Given the description of an element on the screen output the (x, y) to click on. 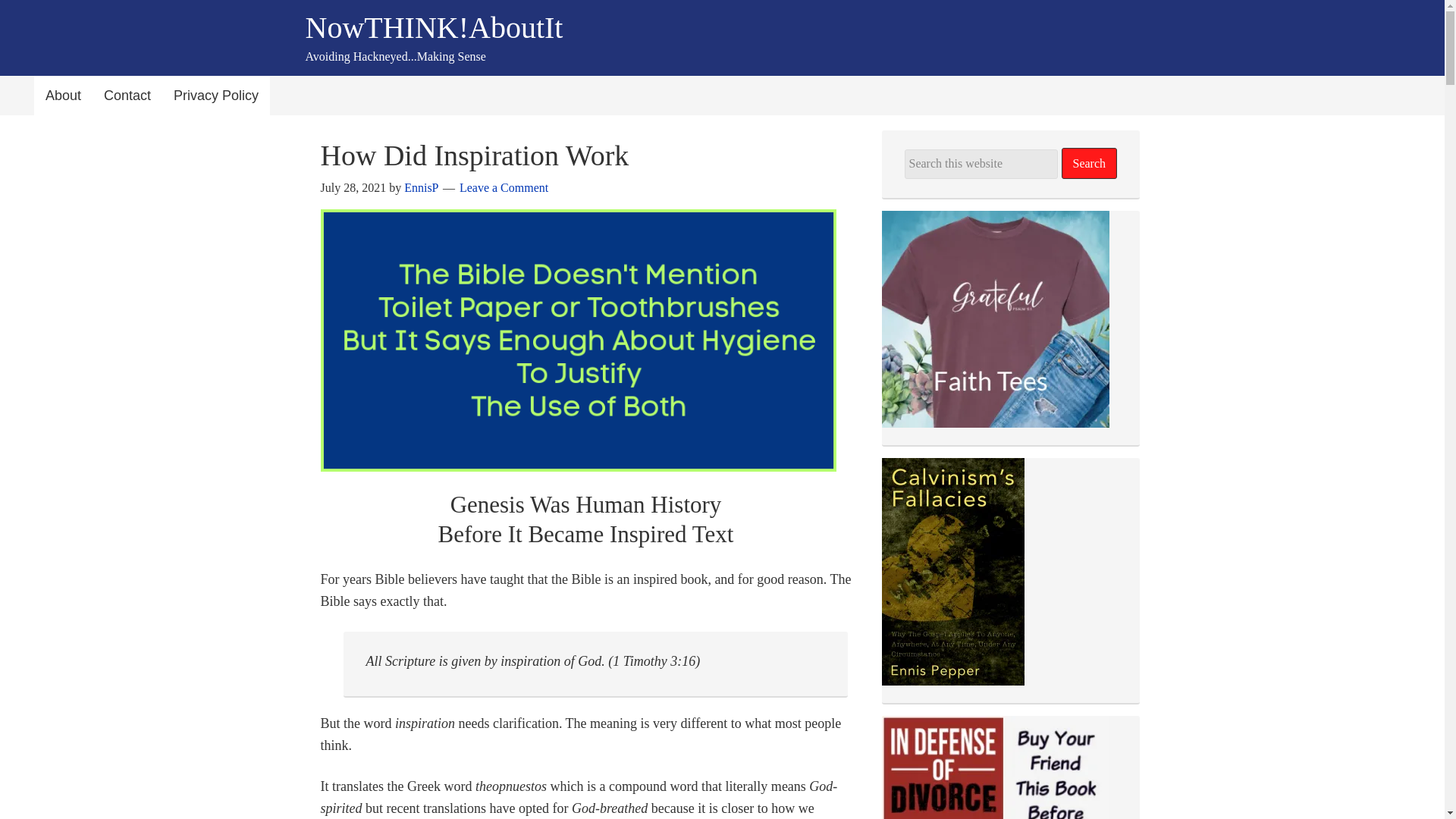
Search (1089, 163)
Leave a Comment (504, 186)
Privacy Policy (215, 95)
NowTHINK!AboutIt (433, 27)
Contact (127, 95)
Search (1089, 163)
About (63, 95)
EnnisP (421, 186)
Search (1089, 163)
